Given the description of an element on the screen output the (x, y) to click on. 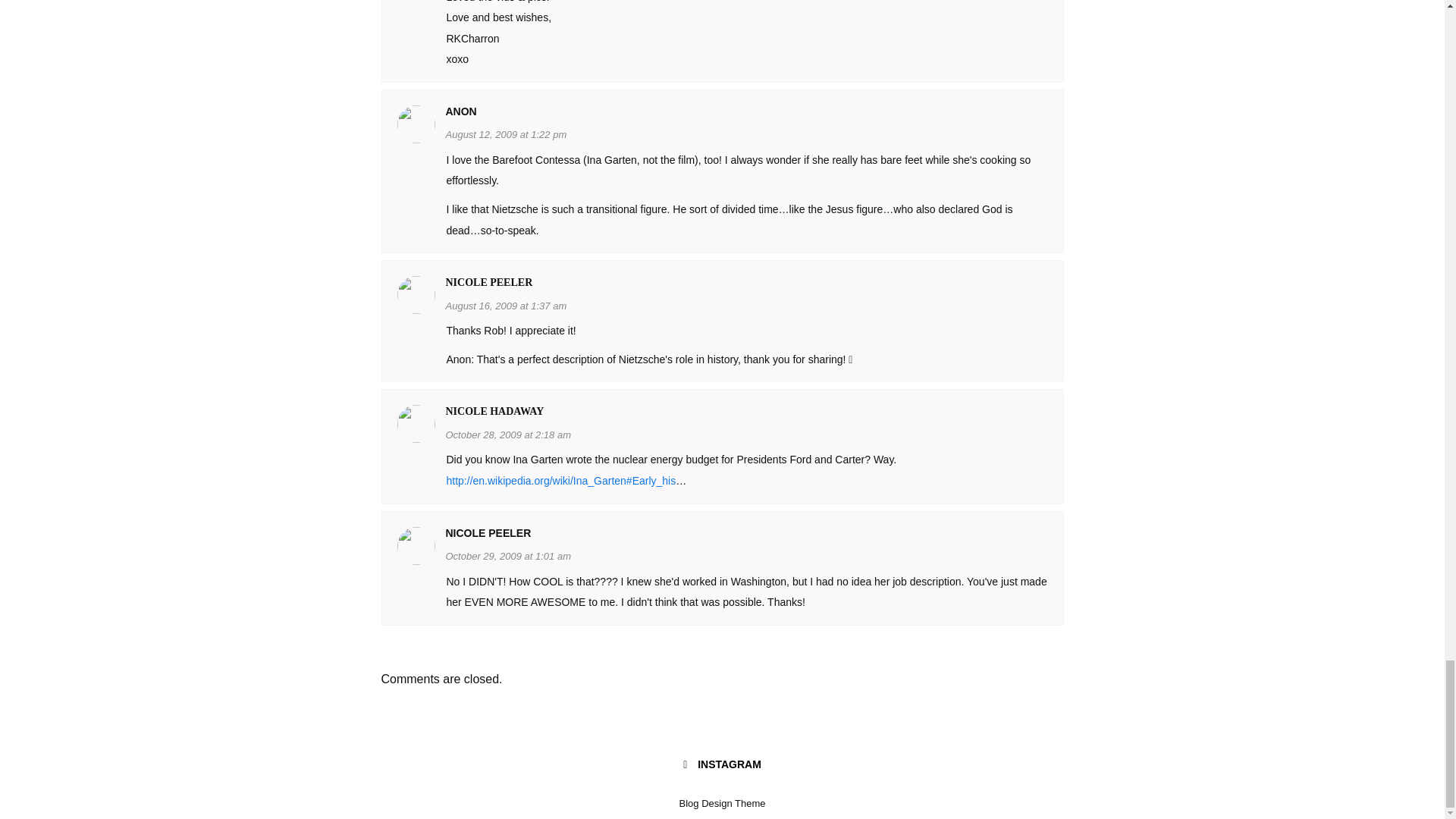
INSTAGRAM (722, 765)
October 29, 2009 at 1:01 am (508, 554)
October 28, 2009 at 2:18 am (508, 433)
August 16, 2009 at 1:37 am (506, 305)
August 12, 2009 at 1:22 pm (506, 133)
NICOLE HADAWAY (494, 410)
NICOLE PEELER (488, 282)
Instagram (722, 765)
